Given the description of an element on the screen output the (x, y) to click on. 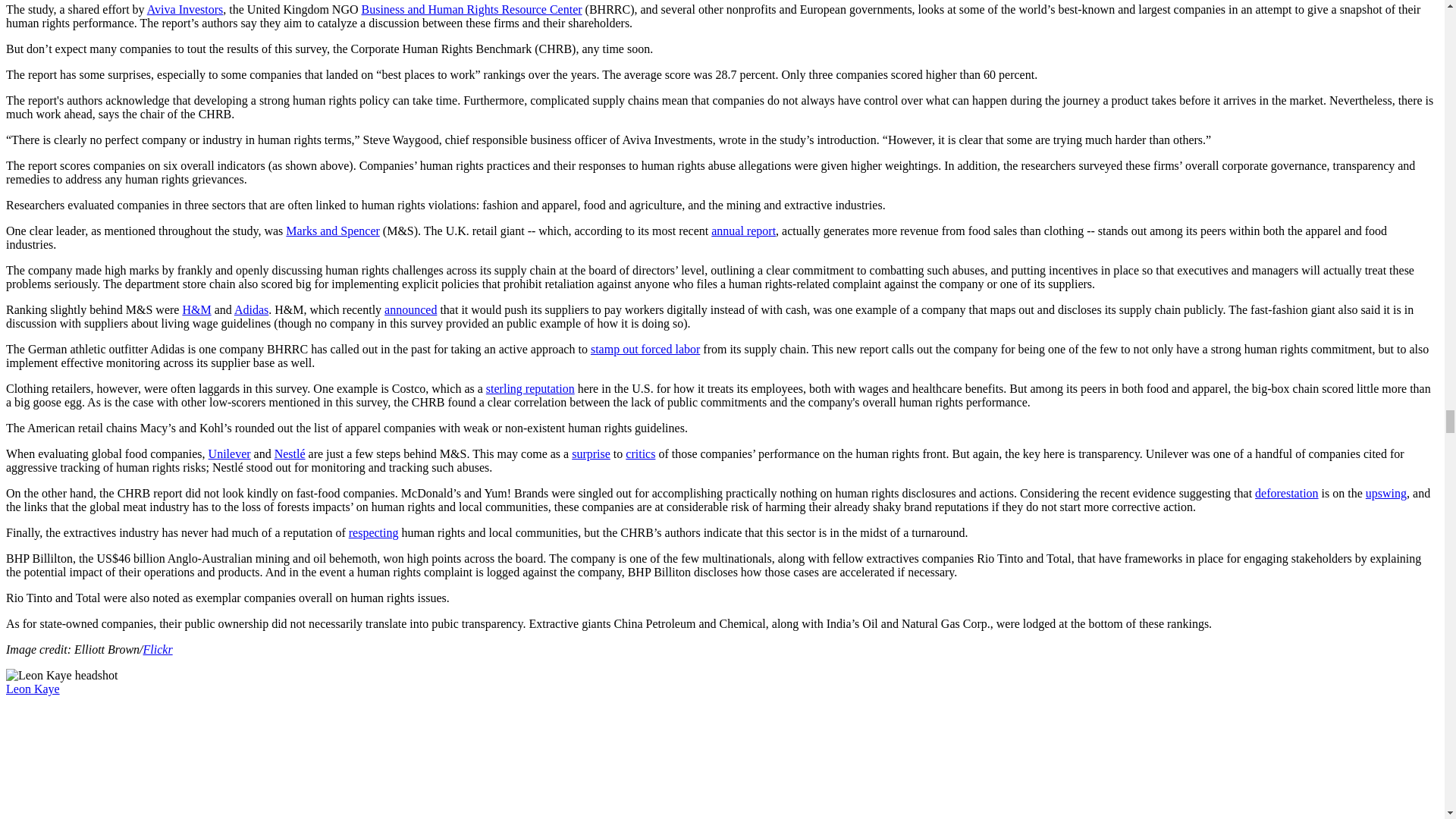
Aviva Investors (185, 9)
surprise (591, 453)
stamp out forced labor (645, 349)
Business and Human Rights Resource Center (471, 9)
sterling reputation (530, 388)
announced (410, 309)
Unilever (229, 453)
Marks and Spencer (332, 230)
Adidas (250, 309)
Leon Kaye author page (32, 688)
